Given the description of an element on the screen output the (x, y) to click on. 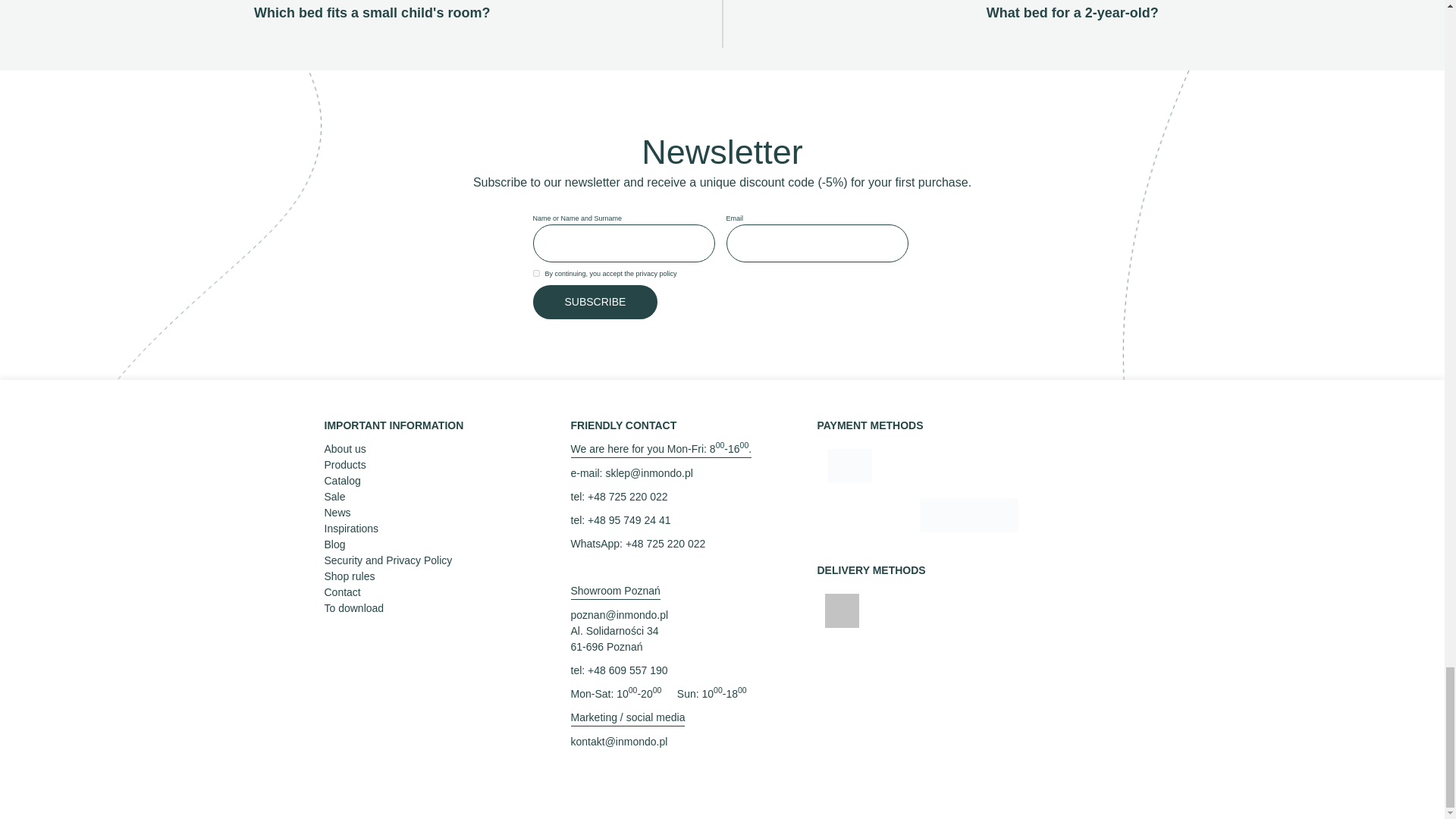
SUBSCRIBE (595, 301)
